Given the description of an element on the screen output the (x, y) to click on. 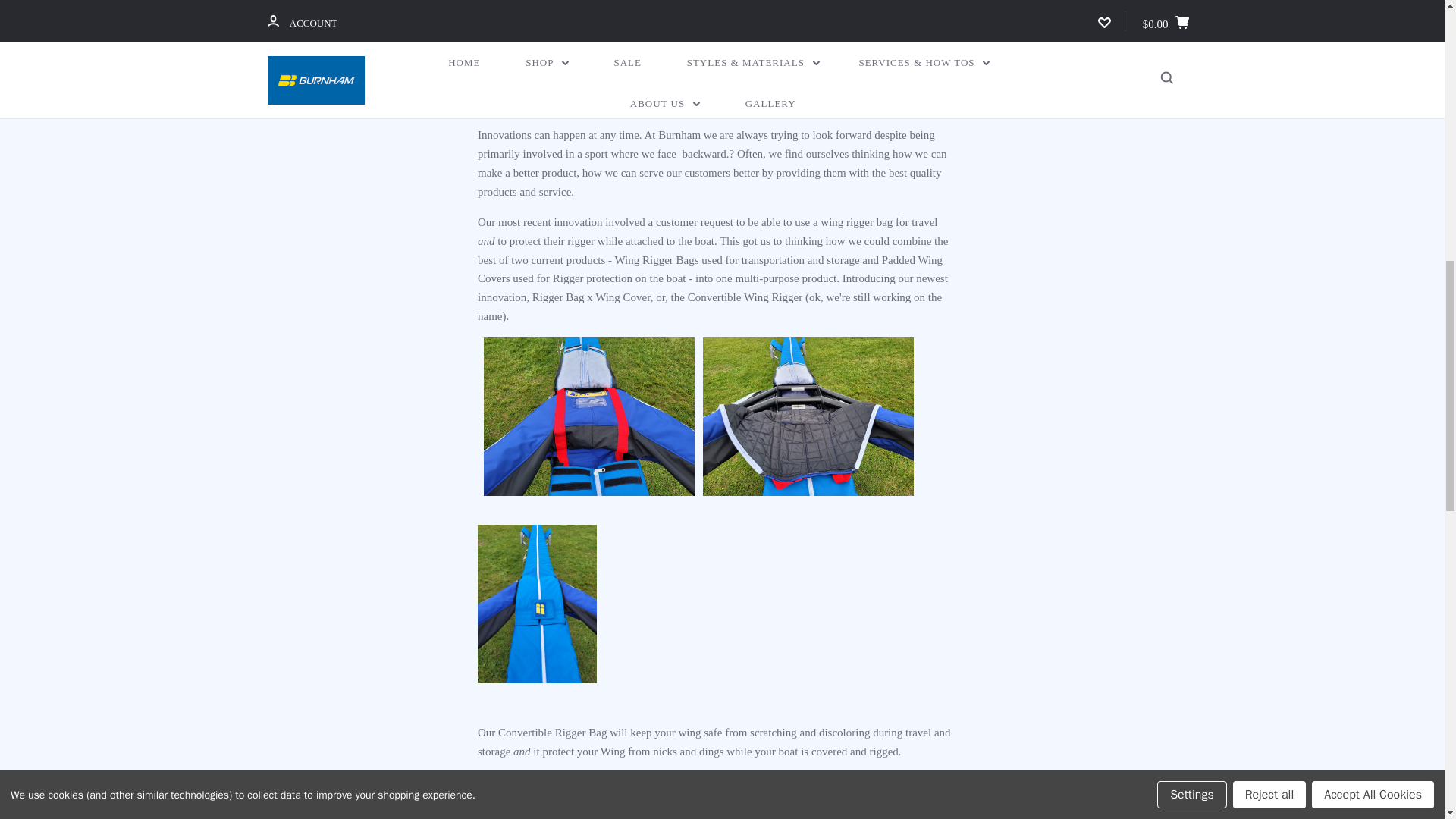
Customer Driven Innovation (721, 54)
